Given the description of an element on the screen output the (x, y) to click on. 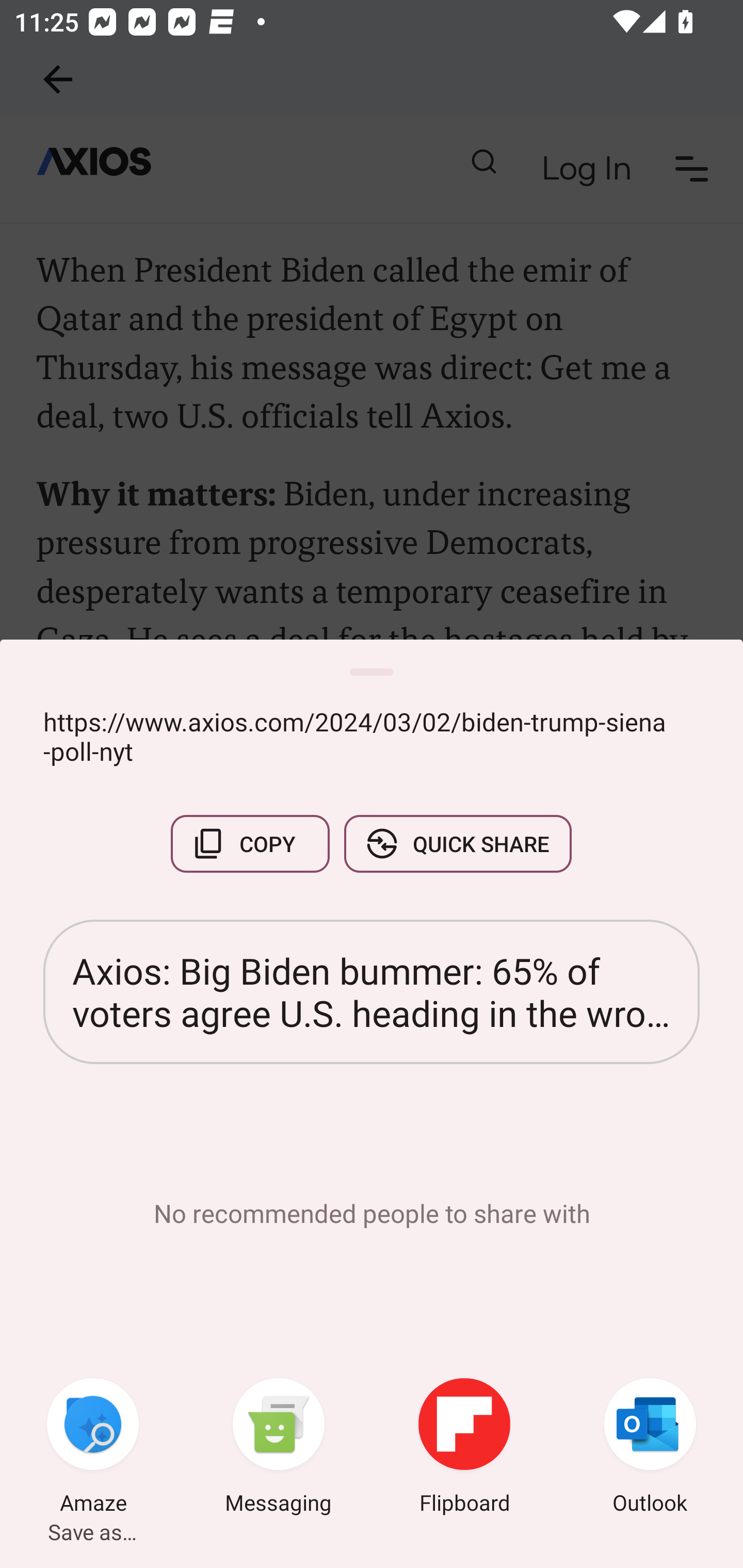
COPY (249, 844)
QUICK SHARE (457, 844)
Amaze Save as… (92, 1448)
Messaging (278, 1448)
Flipboard (464, 1448)
Outlook (650, 1448)
